Given the description of an element on the screen output the (x, y) to click on. 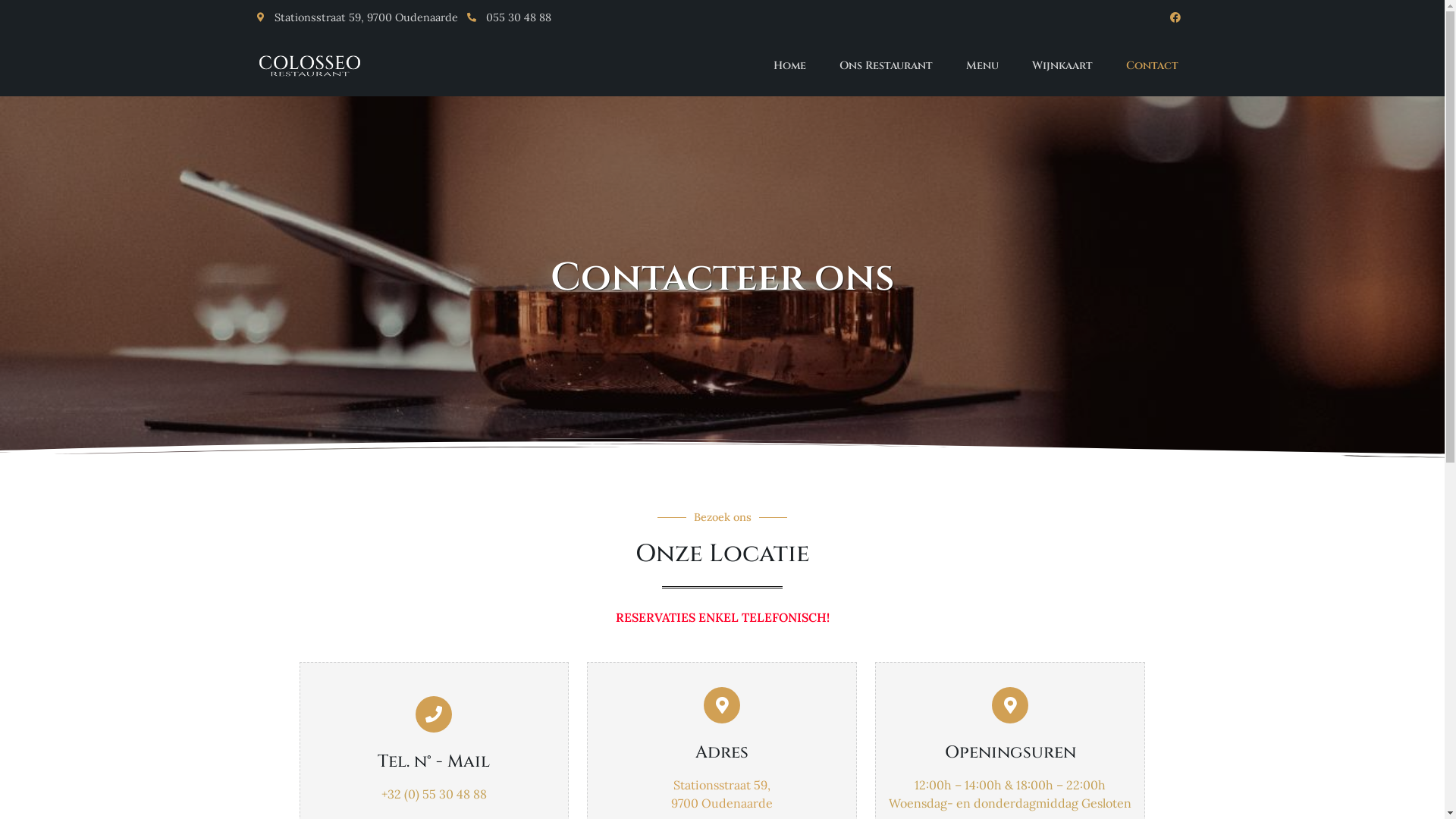
Contact Element type: text (1151, 65)
055 30 48 88 Element type: text (720, 17)
Ons Restaurant Element type: text (885, 65)
Menu Element type: text (981, 65)
+32 (0) 55 30 48 88 Element type: text (433, 793)
Wijnkaart Element type: text (1061, 65)
Home Element type: text (789, 65)
Stationsstraat 59, 9700 Oudenaarde Element type: text (357, 17)
